Given the description of an element on the screen output the (x, y) to click on. 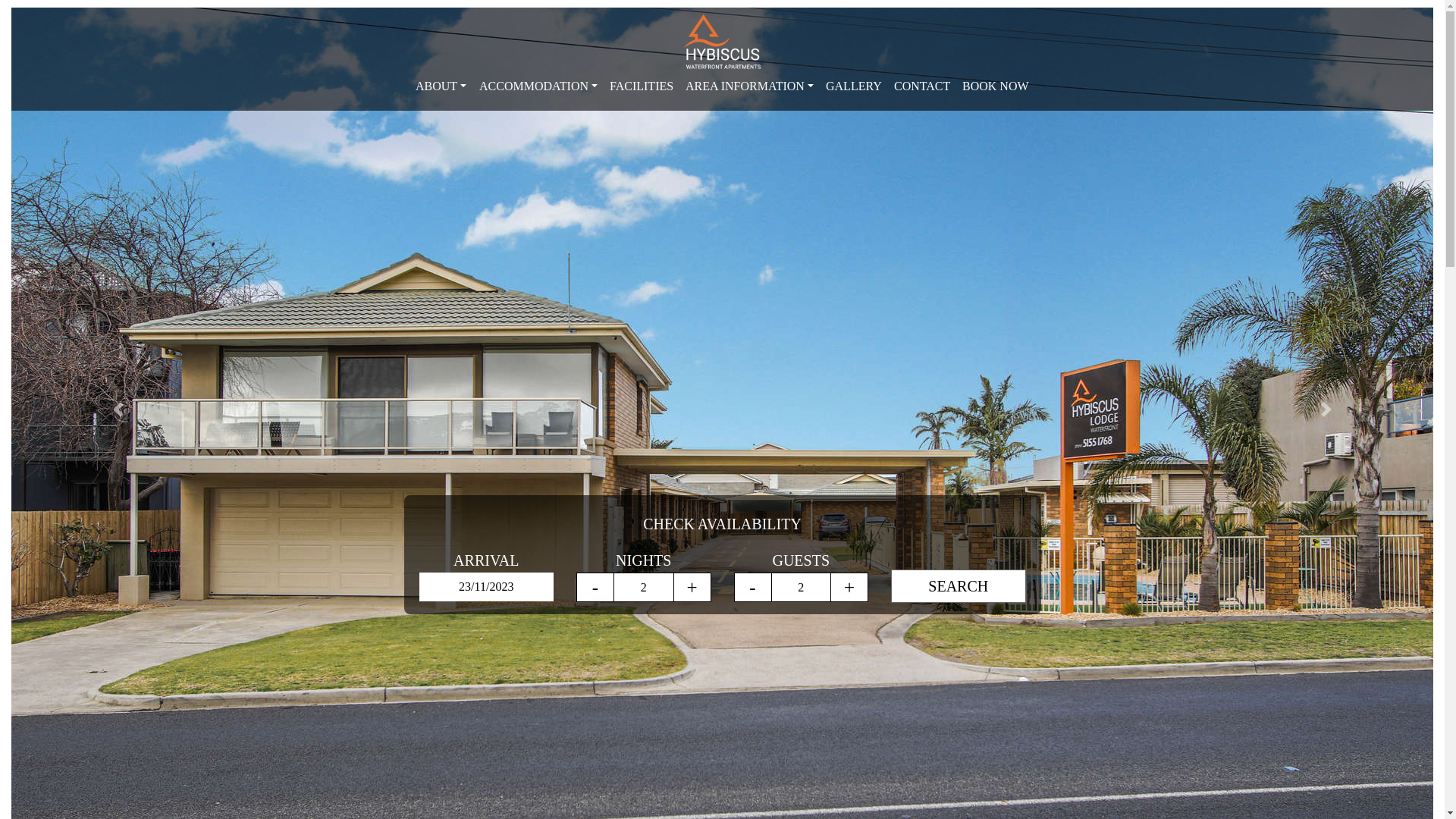
CONTACT Element type: text (922, 86)
SEARCH Element type: text (958, 585)
FACILITIES Element type: text (641, 86)
BOOK NOW Element type: text (995, 86)
ABOUT Element type: text (440, 86)
- Element type: text (752, 587)
ACCOMMODATION Element type: text (538, 86)
+ Element type: text (692, 587)
GALLERY Element type: text (853, 86)
- Element type: text (595, 587)
AREA INFORMATION Element type: text (749, 86)
+ Element type: text (849, 587)
